Given the description of an element on the screen output the (x, y) to click on. 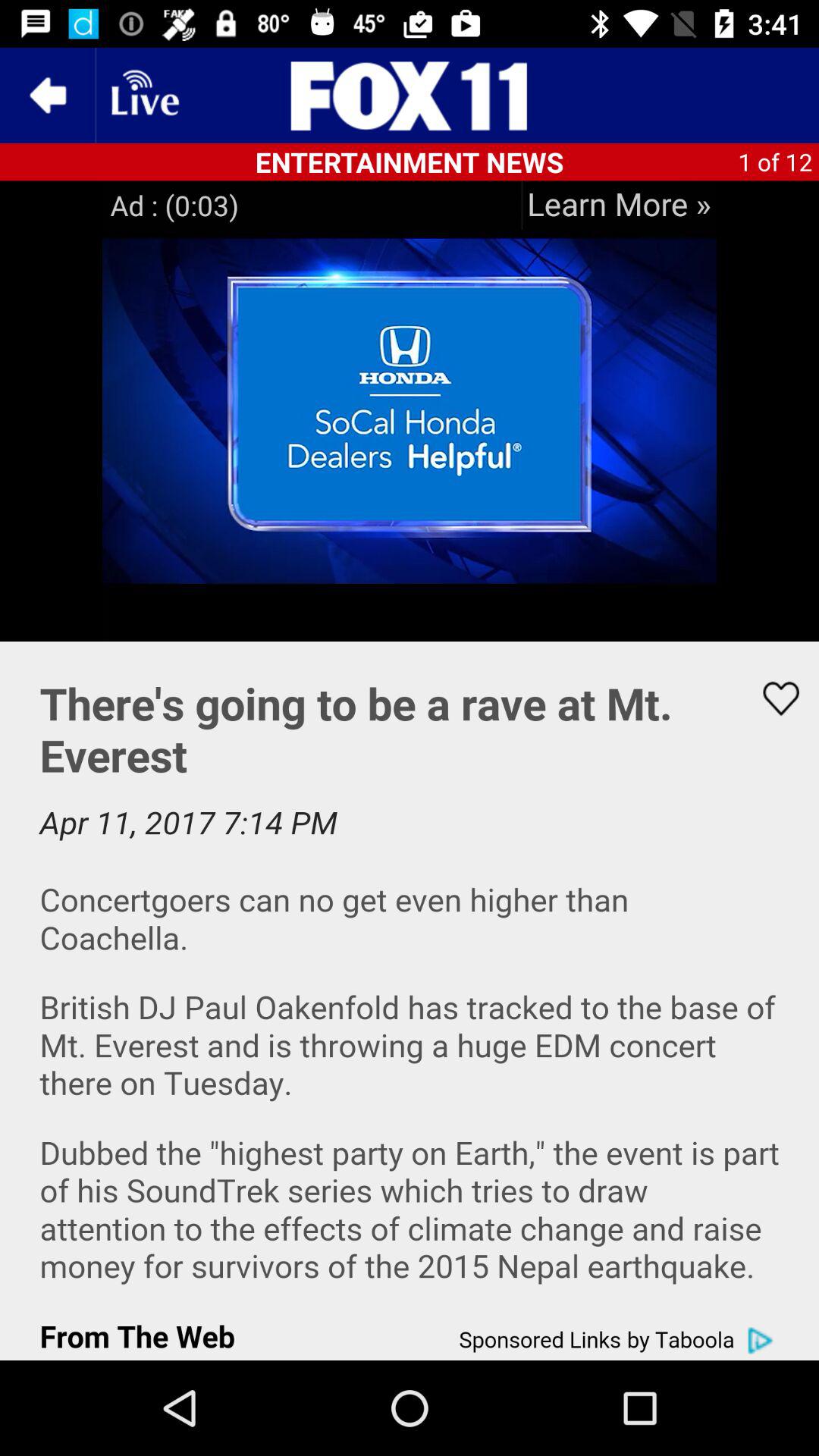
select an image which is below entertainment news on the page (409, 411)
click the heart icon (771, 698)
it is clickable (618, 205)
